Given the description of an element on the screen output the (x, y) to click on. 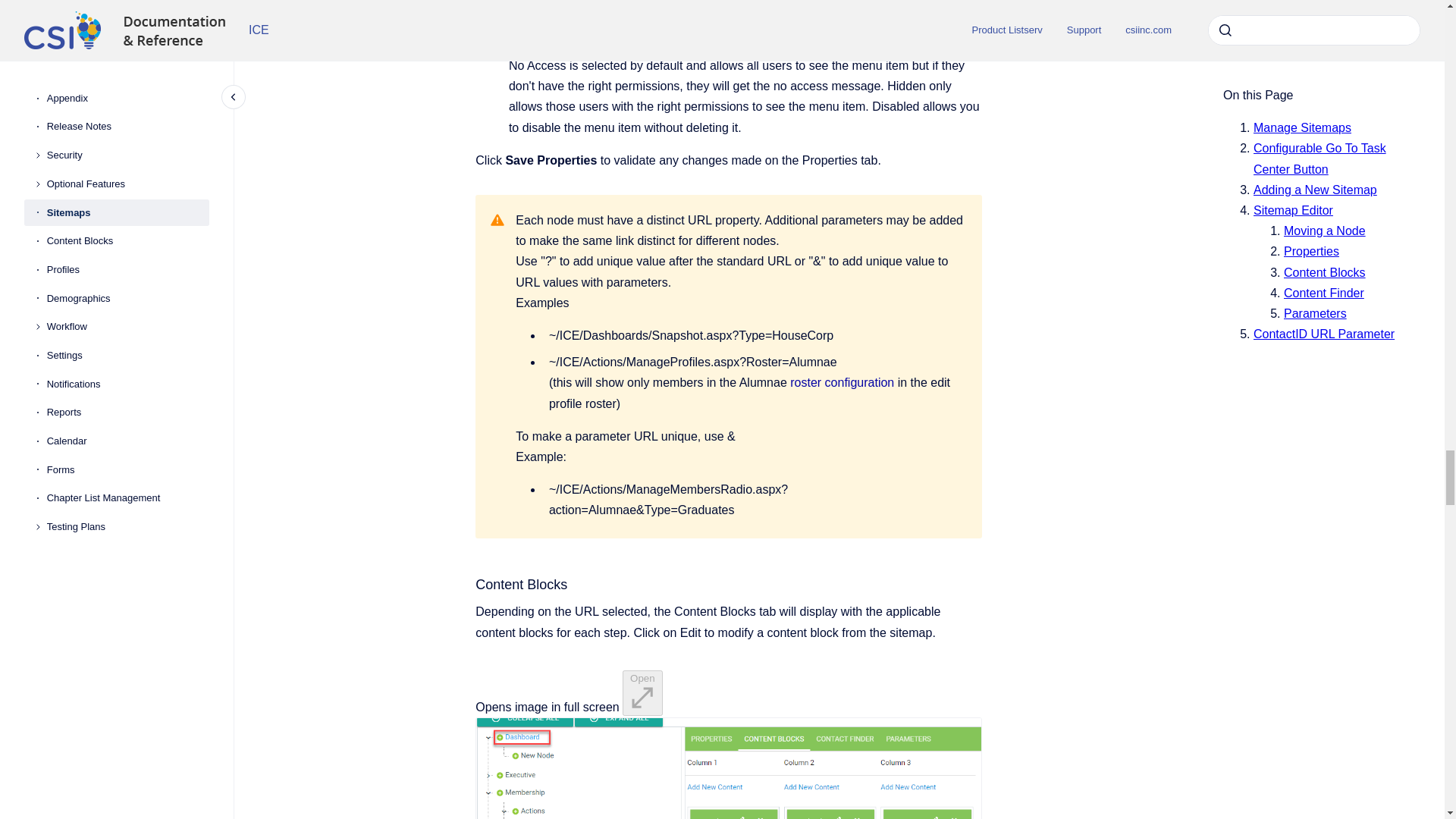
roster configuration (841, 382)
Copy to clipboard (468, 583)
